Given the description of an element on the screen output the (x, y) to click on. 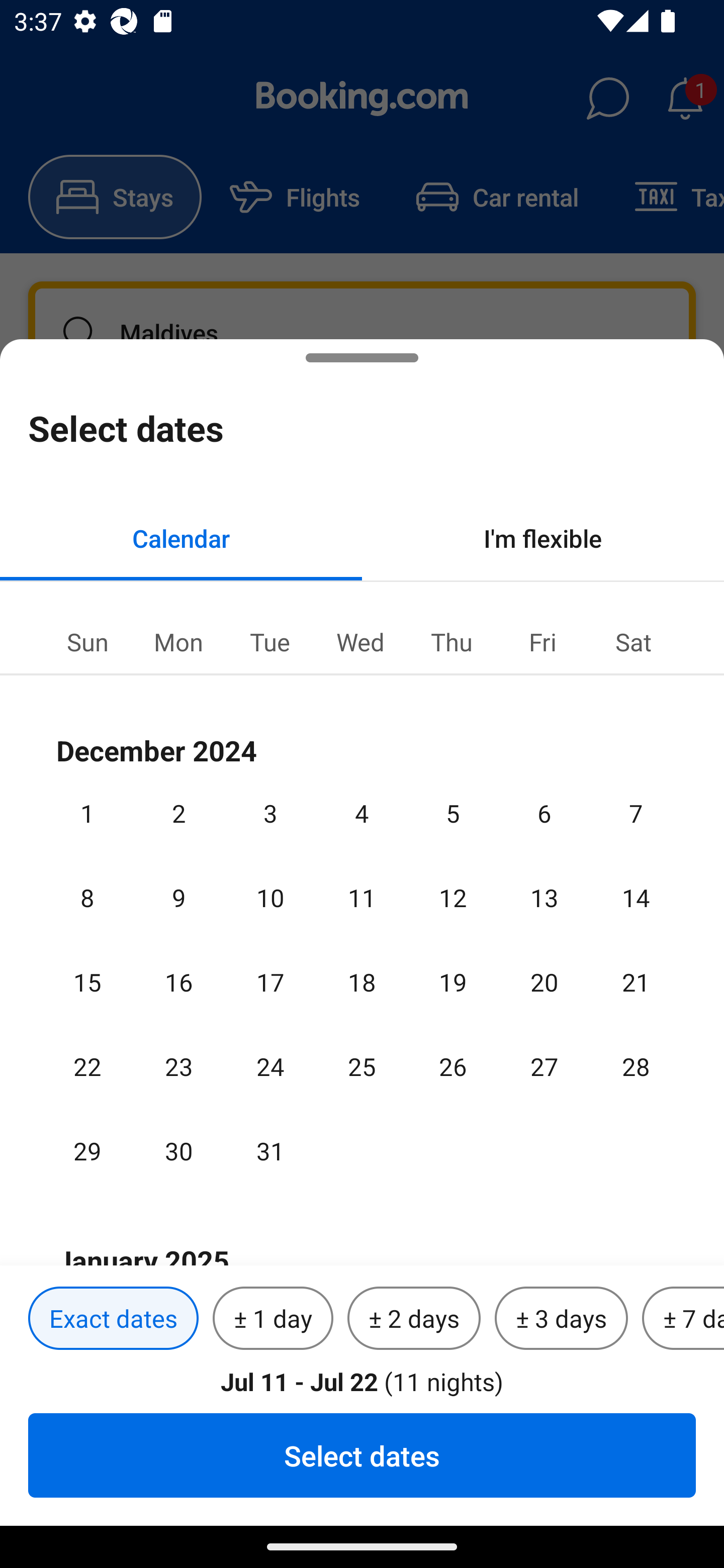
I'm flexible (543, 537)
Exact dates (113, 1318)
± 1 day (272, 1318)
± 2 days (413, 1318)
± 3 days (560, 1318)
± 7 days (683, 1318)
Select dates (361, 1454)
